Given the description of an element on the screen output the (x, y) to click on. 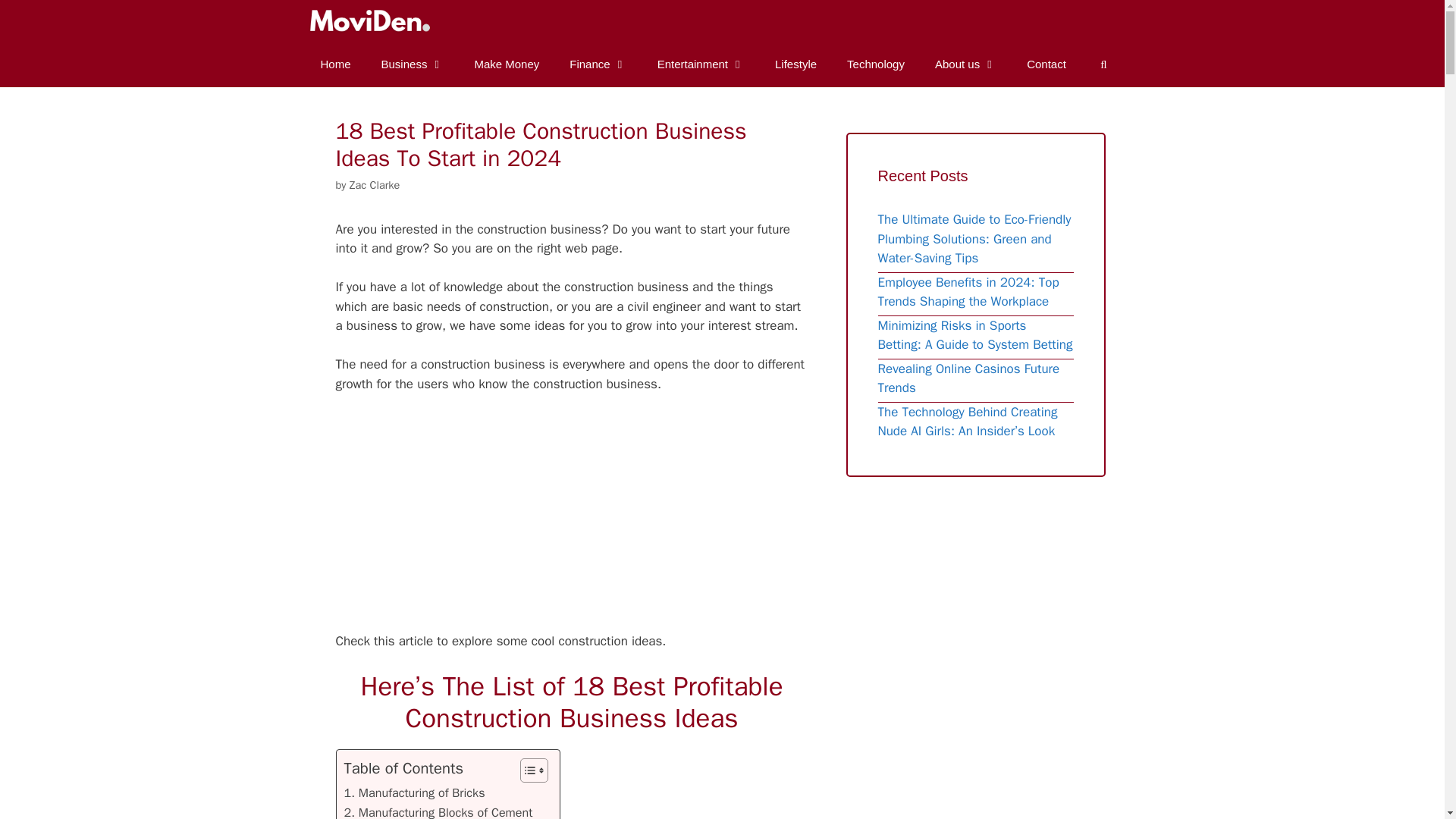
Finance (598, 63)
View all posts by Zac Clarke (374, 184)
Home (334, 63)
Business (413, 63)
Moviden (371, 20)
2. Manufacturing Blocks of Cement (437, 811)
Make Money (506, 63)
1. Manufacturing of Bricks (413, 792)
Advertisement (592, 519)
Moviden (367, 20)
